Given the description of an element on the screen output the (x, y) to click on. 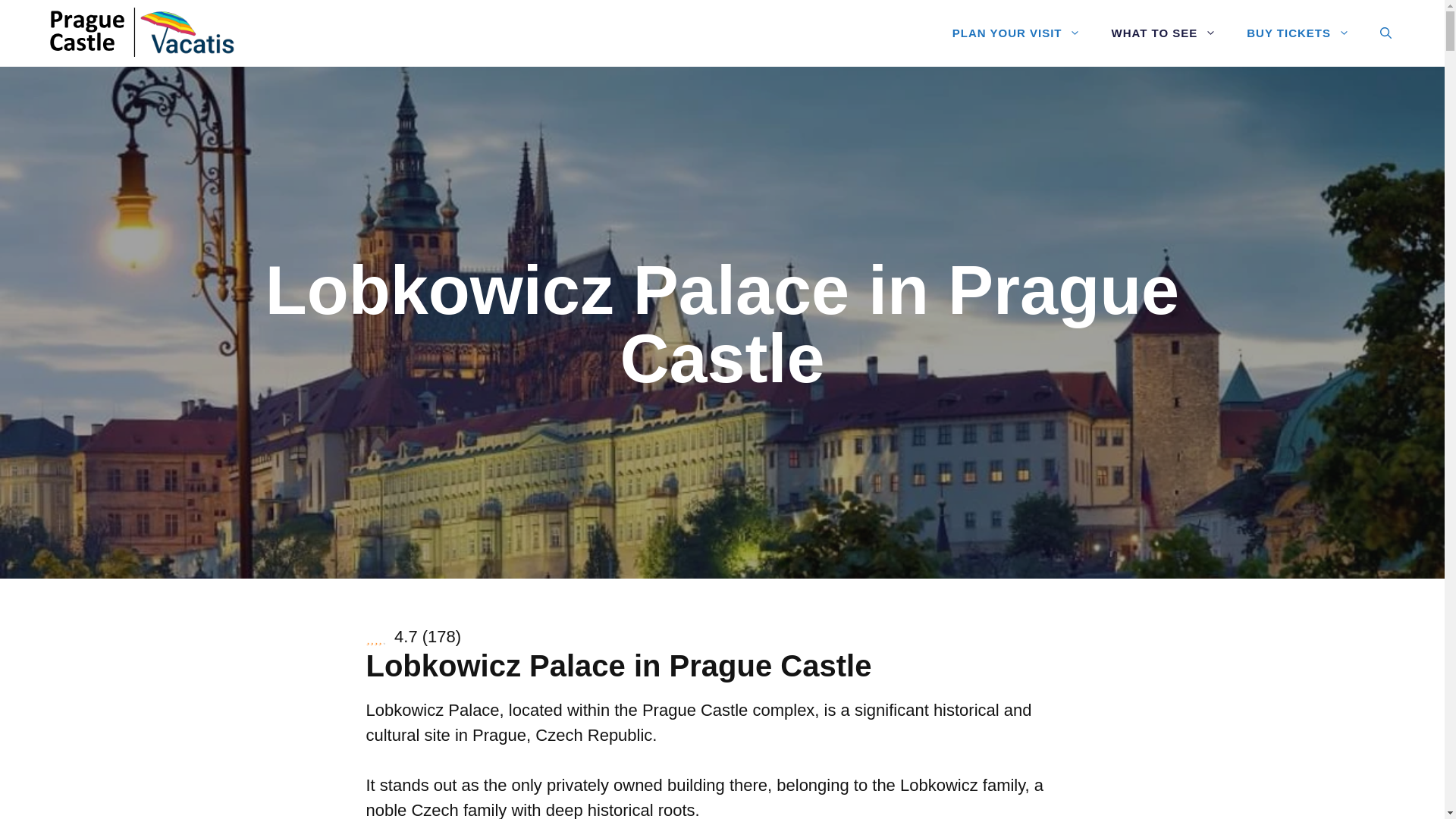
BUY TICKETS (1298, 33)
PLAN YOUR VISIT (1016, 33)
WHAT TO SEE (1163, 33)
